Given the description of an element on the screen output the (x, y) to click on. 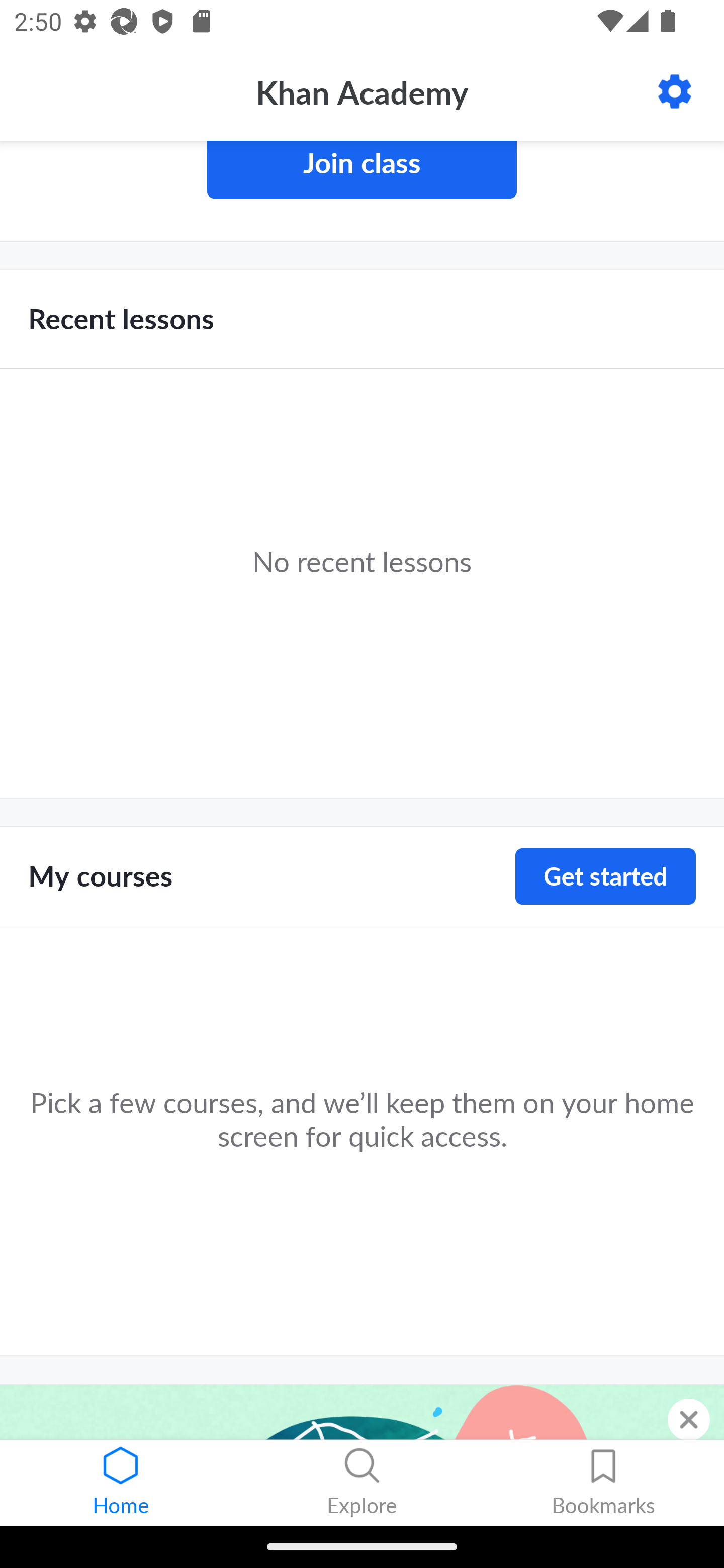
Settings (674, 91)
Join class (361, 170)
Get started (605, 876)
Dismiss (688, 1418)
Home (120, 1482)
Explore (361, 1482)
Bookmarks (603, 1482)
